Given the description of an element on the screen output the (x, y) to click on. 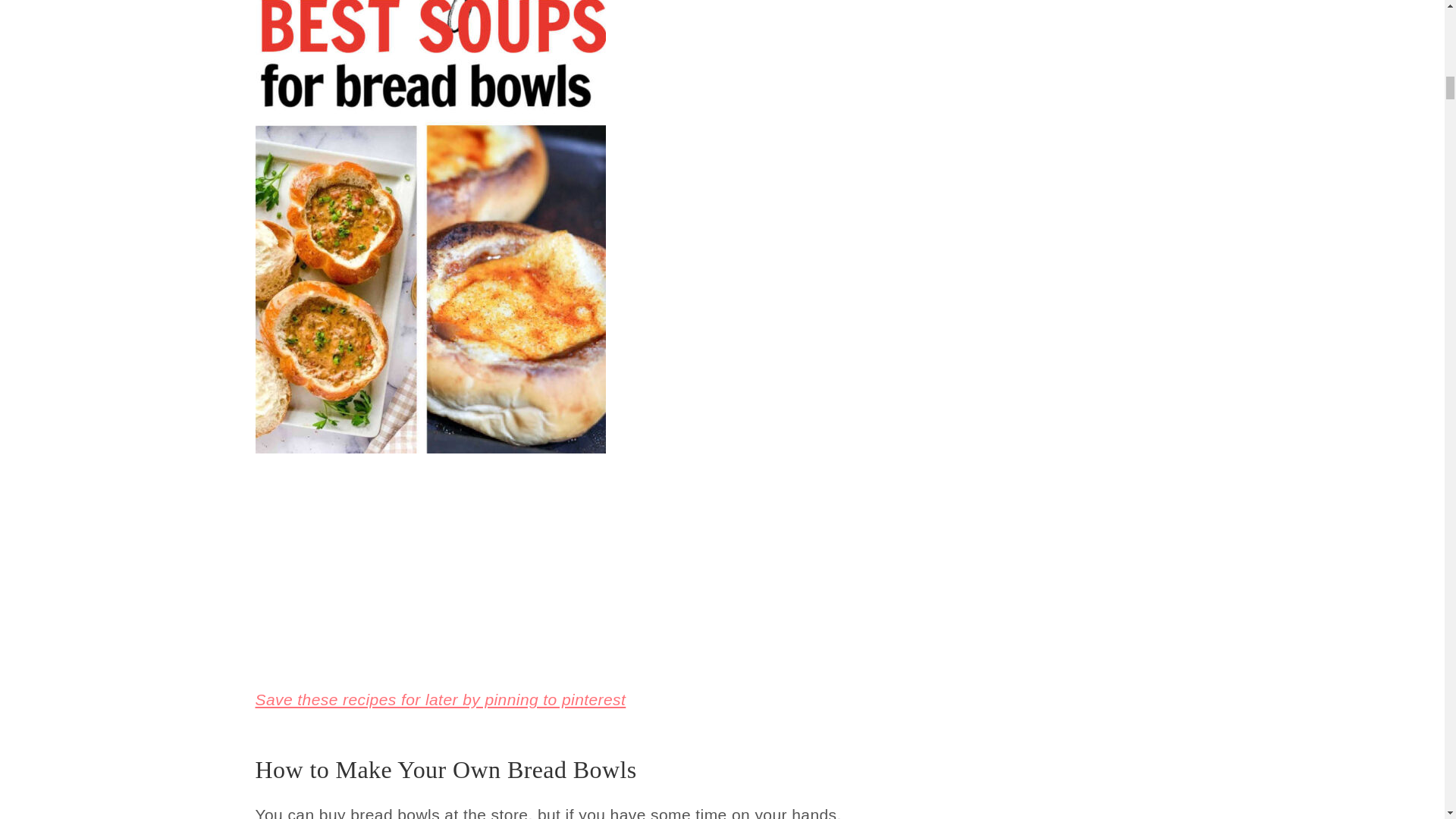
Save these recipes for later by pinning to pinterest (440, 699)
